Given the description of an element on the screen output the (x, y) to click on. 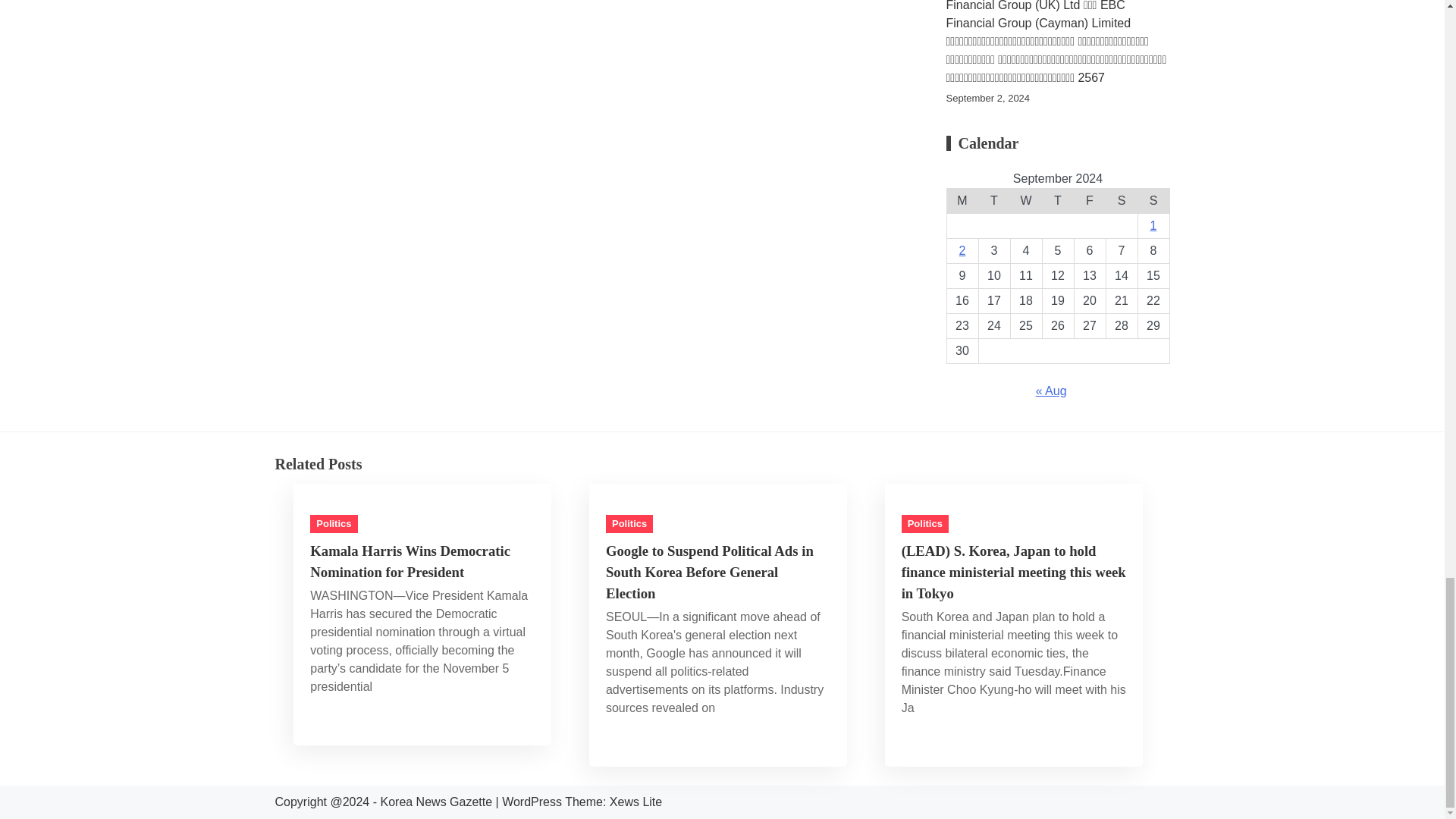
Friday (1089, 201)
Wednesday (1026, 201)
Saturday (1121, 201)
Sunday (1153, 201)
Monday (962, 201)
Tuesday (994, 201)
Thursday (1058, 201)
